Given the description of an element on the screen output the (x, y) to click on. 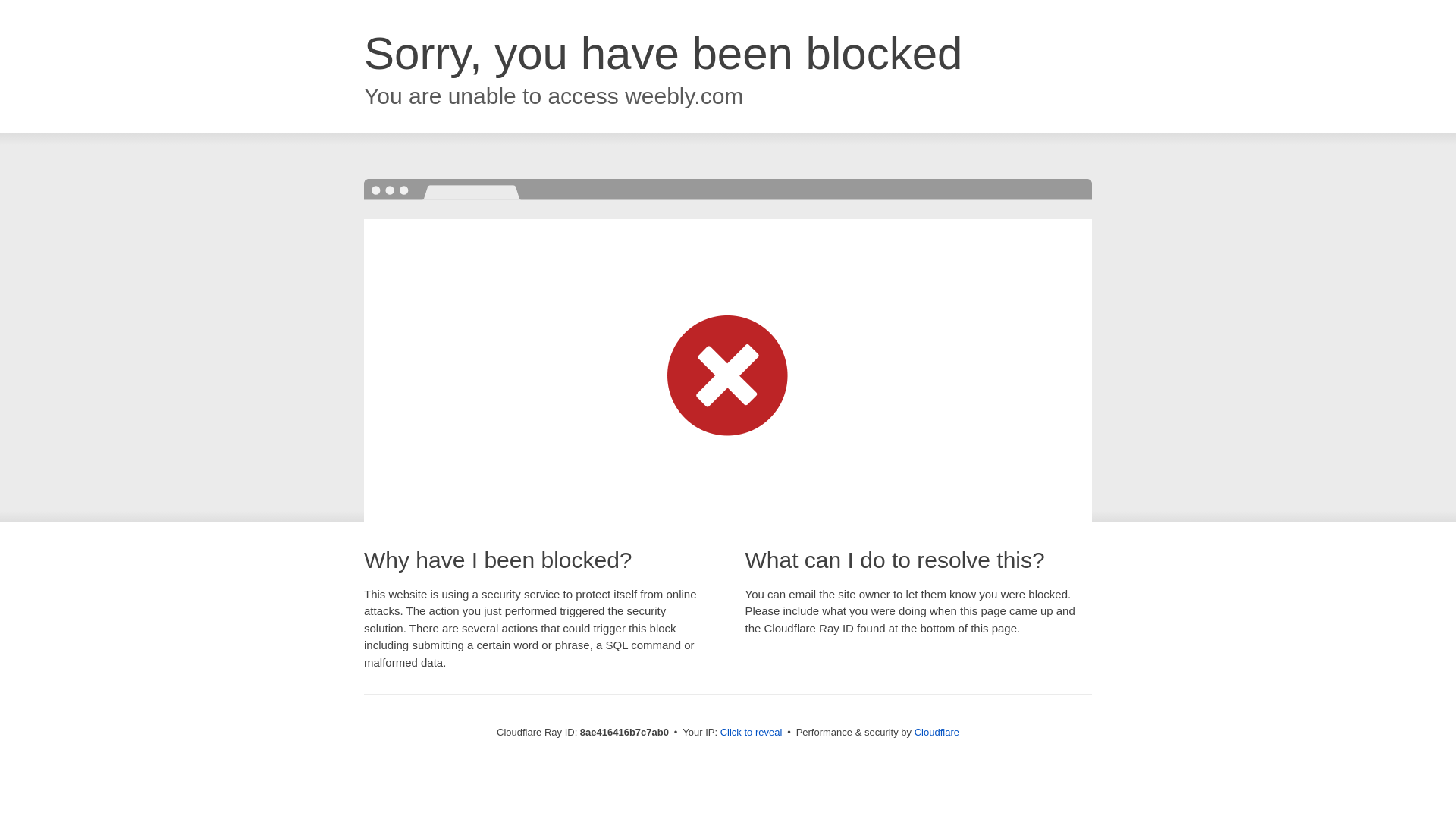
Click to reveal (751, 732)
Cloudflare (936, 731)
